Given the description of an element on the screen output the (x, y) to click on. 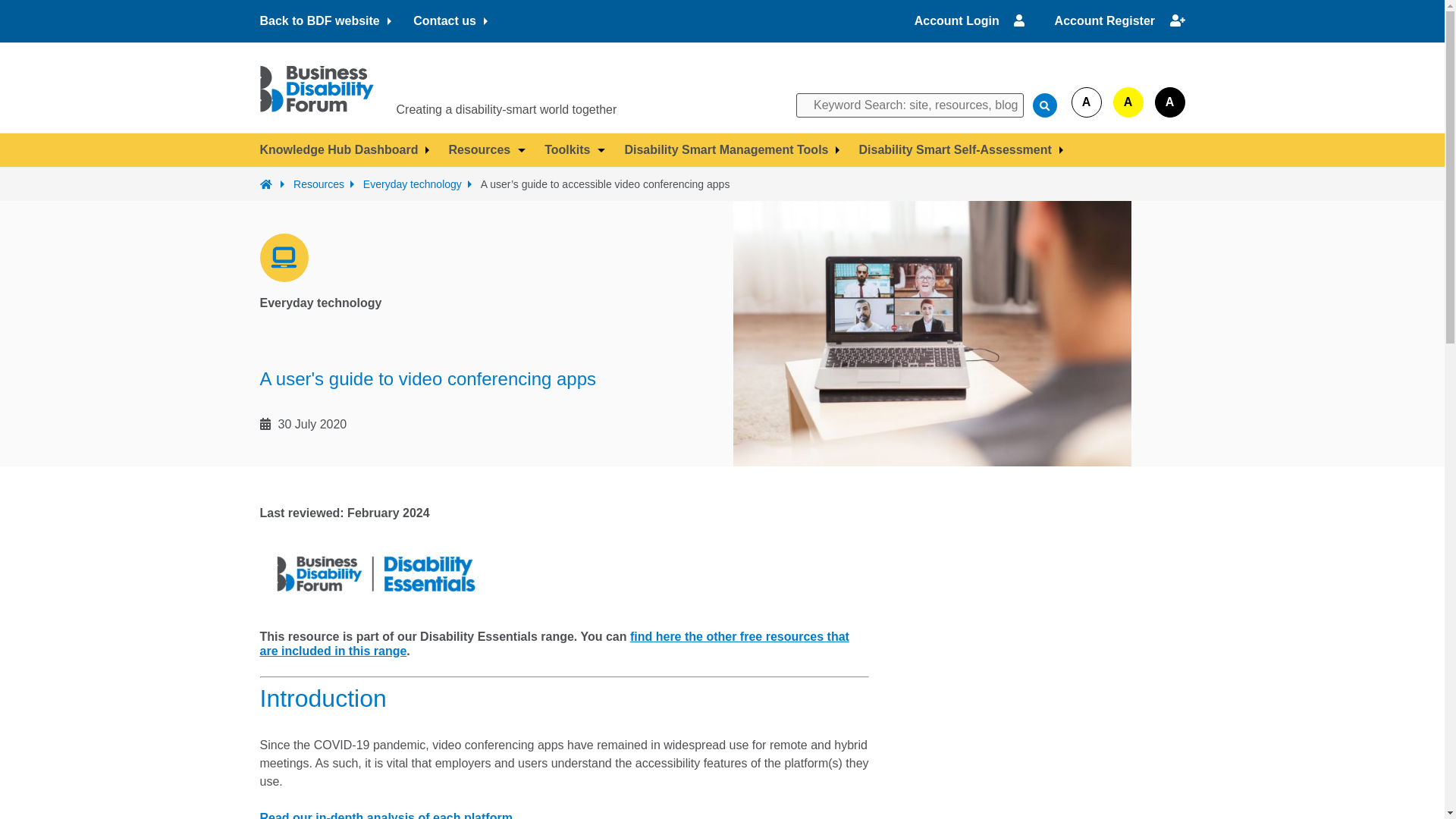
A (1127, 101)
Search (1044, 105)
Back to BDF website (324, 21)
A (1169, 101)
Set the colour scheme to white (1085, 101)
Knowledge Hub Dashboard (344, 150)
Contact us (450, 21)
Resources (486, 149)
Account Register (1119, 20)
Toolkits (574, 149)
High Contrast style (1127, 101)
Account Login (970, 20)
A (1085, 101)
Inverted high contrast link (1169, 101)
